Given the description of an element on the screen output the (x, y) to click on. 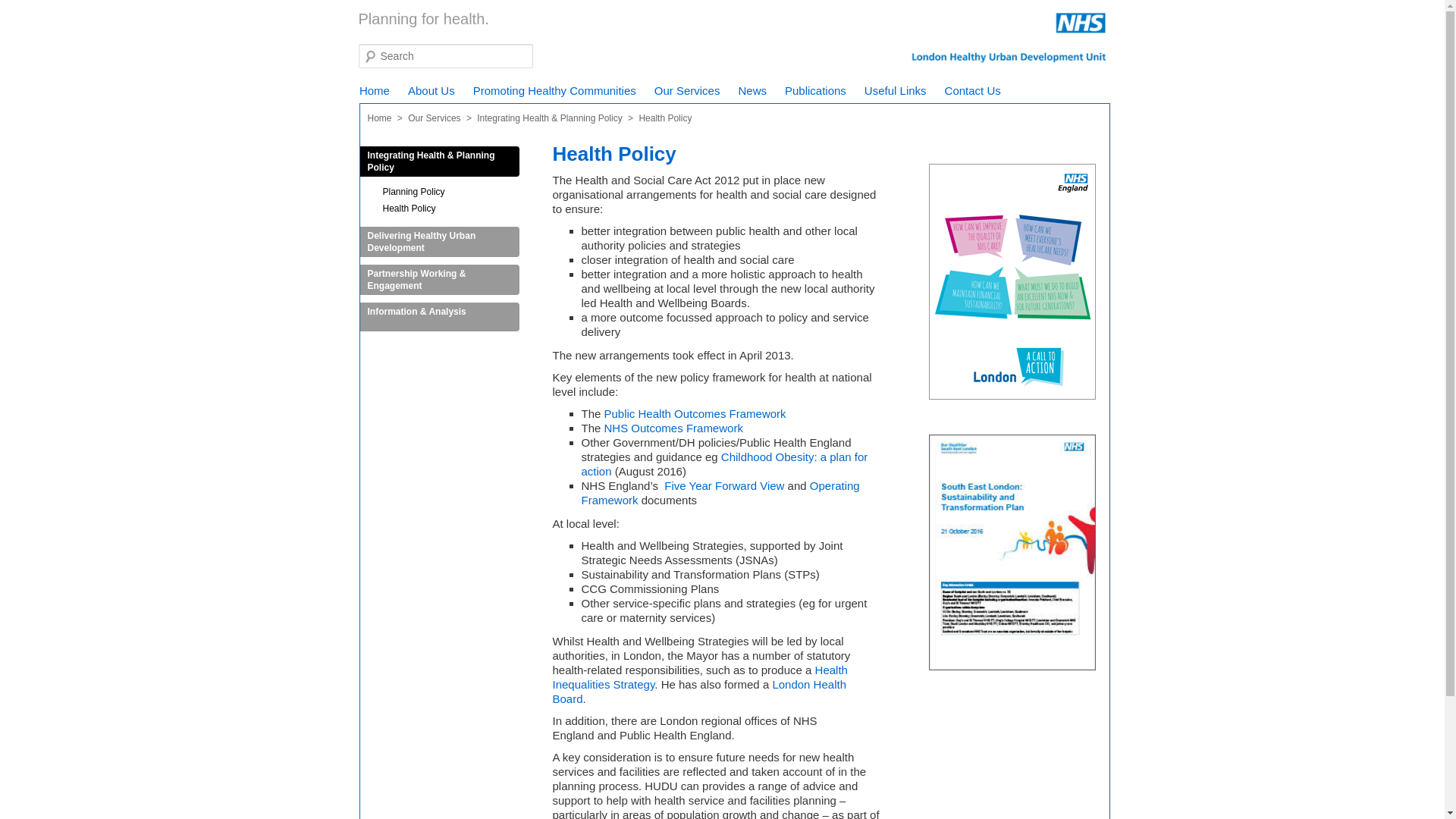
London Health Board (698, 691)
Publications (816, 90)
Search (24, 8)
Health Inequalities Strategy, Mayor of London, April 2010 (699, 677)
About Us (431, 90)
London Health Board (698, 691)
Go to London Healthy Urban Development Unit. (378, 118)
Our Services (433, 118)
Delivering Healthy Urban Development (438, 241)
Five Year Forward View (723, 485)
Contact Us (973, 90)
Planning Policy (467, 196)
News (752, 90)
Health Policy (467, 213)
Childhood Obesity: a plan for action (723, 463)
